Given the description of an element on the screen output the (x, y) to click on. 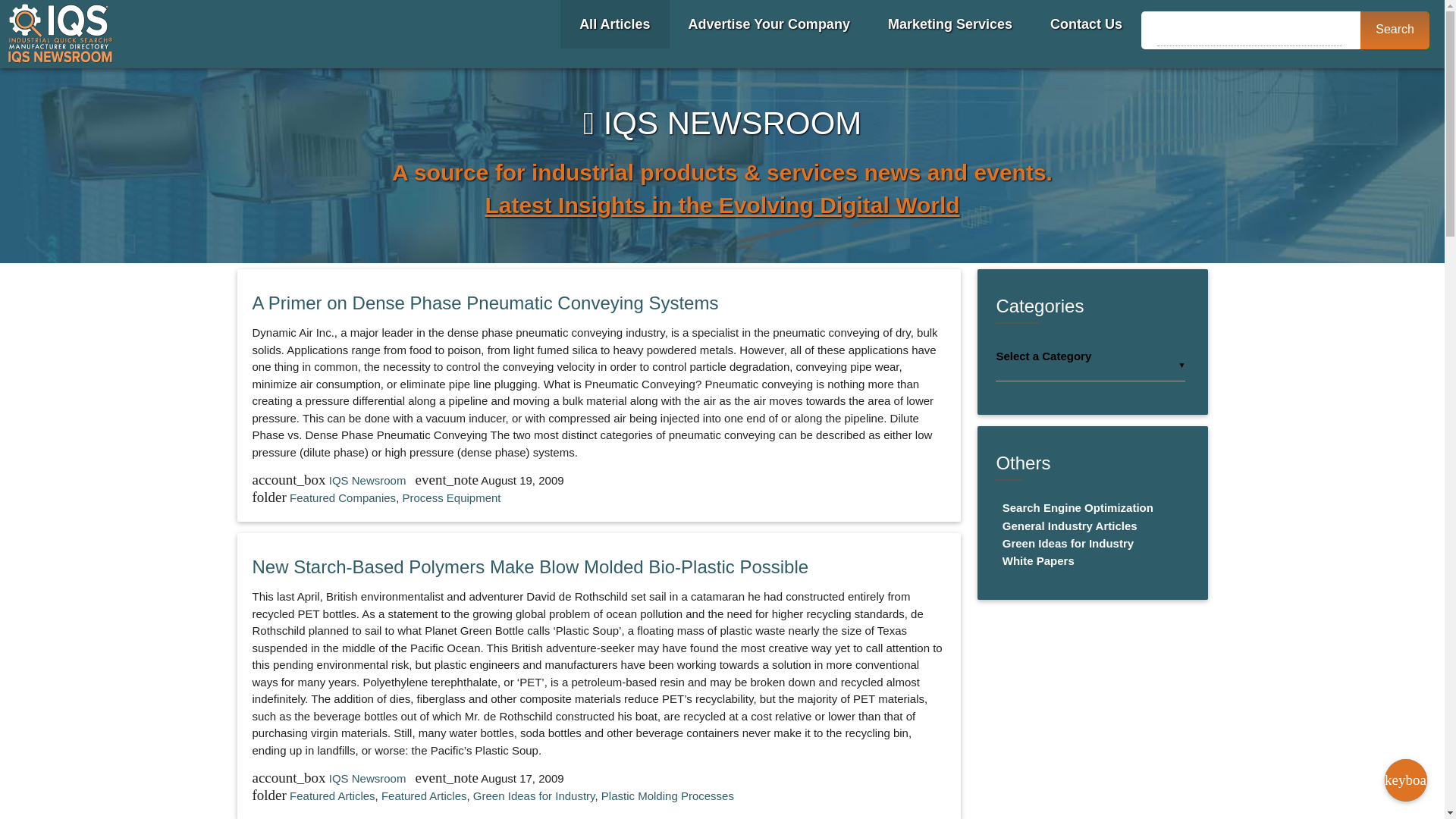
IQS Newsroom (369, 778)
Green Ideas for Industry (534, 795)
Process Equipment (450, 497)
Featured Articles (332, 795)
Latest Insights in the Evolving Digital World (721, 204)
IQS Newsroom (369, 480)
A Primer on Dense Phase Pneumatic Conveying Systems (484, 302)
Featured Articles (424, 795)
Plastic Molding Processes (667, 795)
